Given the description of an element on the screen output the (x, y) to click on. 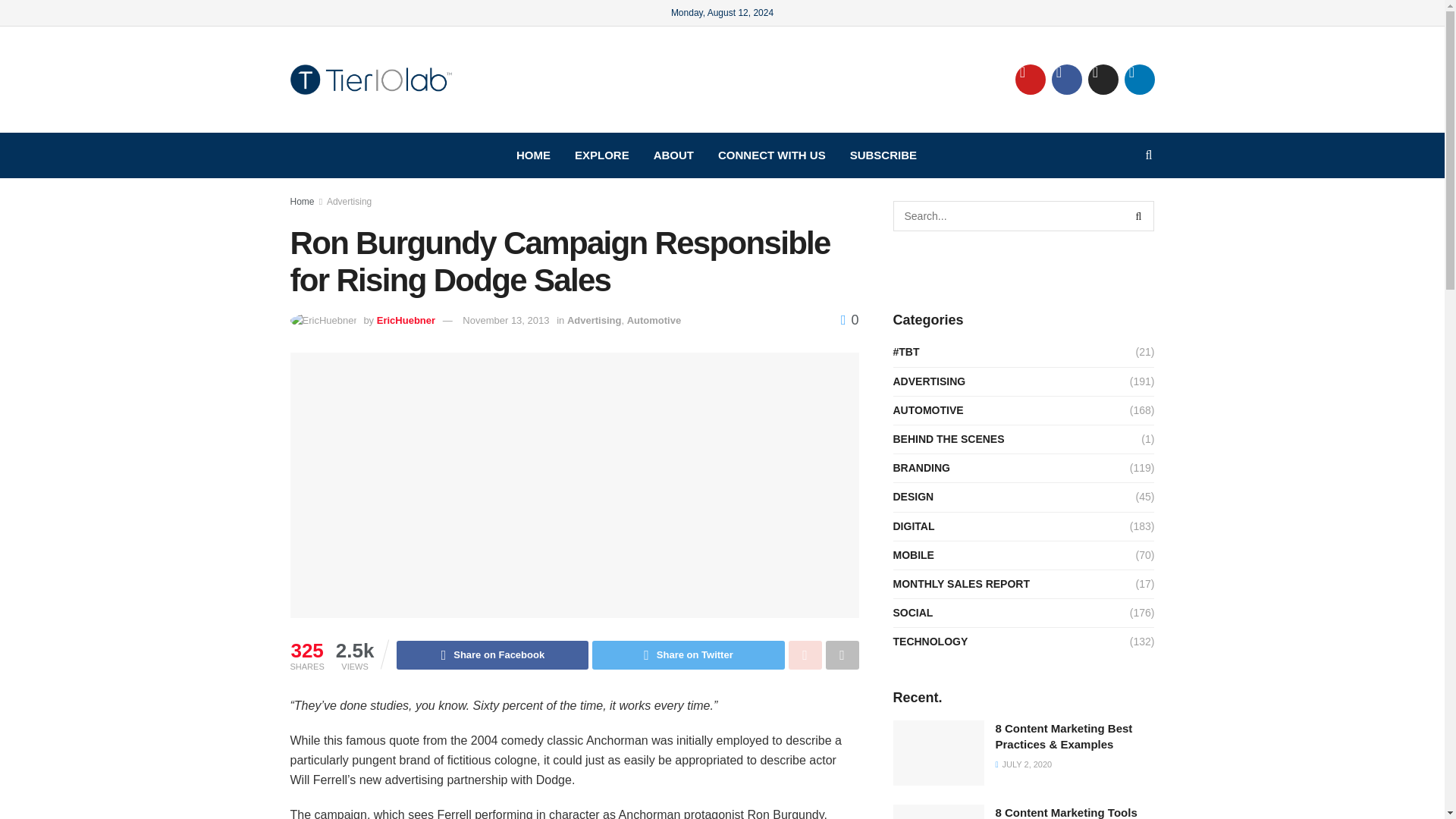
Automotive (654, 319)
0 (850, 319)
Share on Twitter (688, 654)
Share on Facebook (492, 654)
CONNECT WITH US (772, 155)
Home (301, 201)
November 13, 2013 (505, 319)
ABOUT (674, 155)
Advertising (348, 201)
EricHuebner (406, 319)
